Given the description of an element on the screen output the (x, y) to click on. 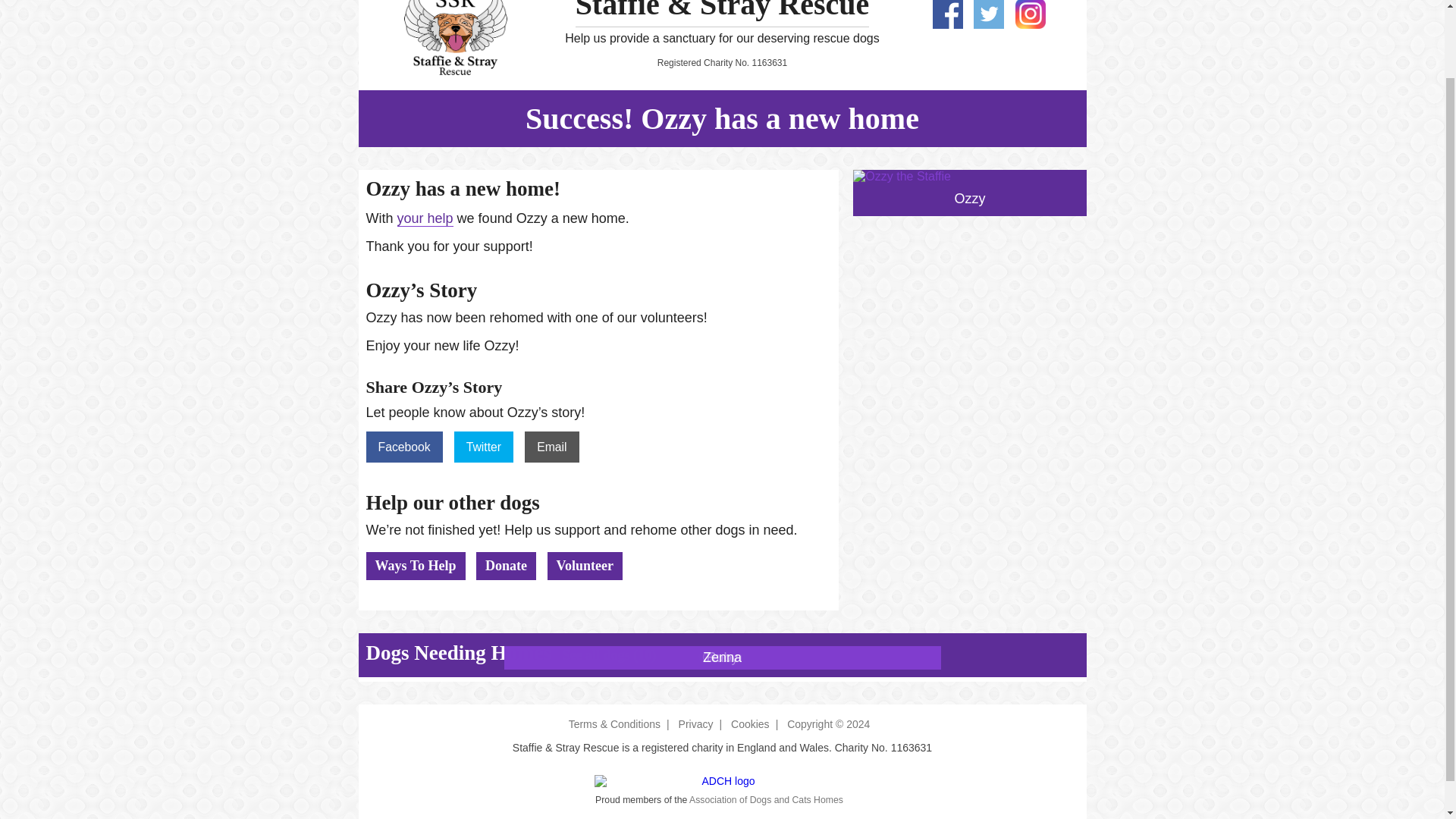
Volunteer (585, 565)
your help (424, 218)
Facebook (404, 446)
Twitter (483, 446)
Ways To Help (415, 565)
Donate (505, 565)
Email (551, 446)
Bobby (721, 657)
